Given the description of an element on the screen output the (x, y) to click on. 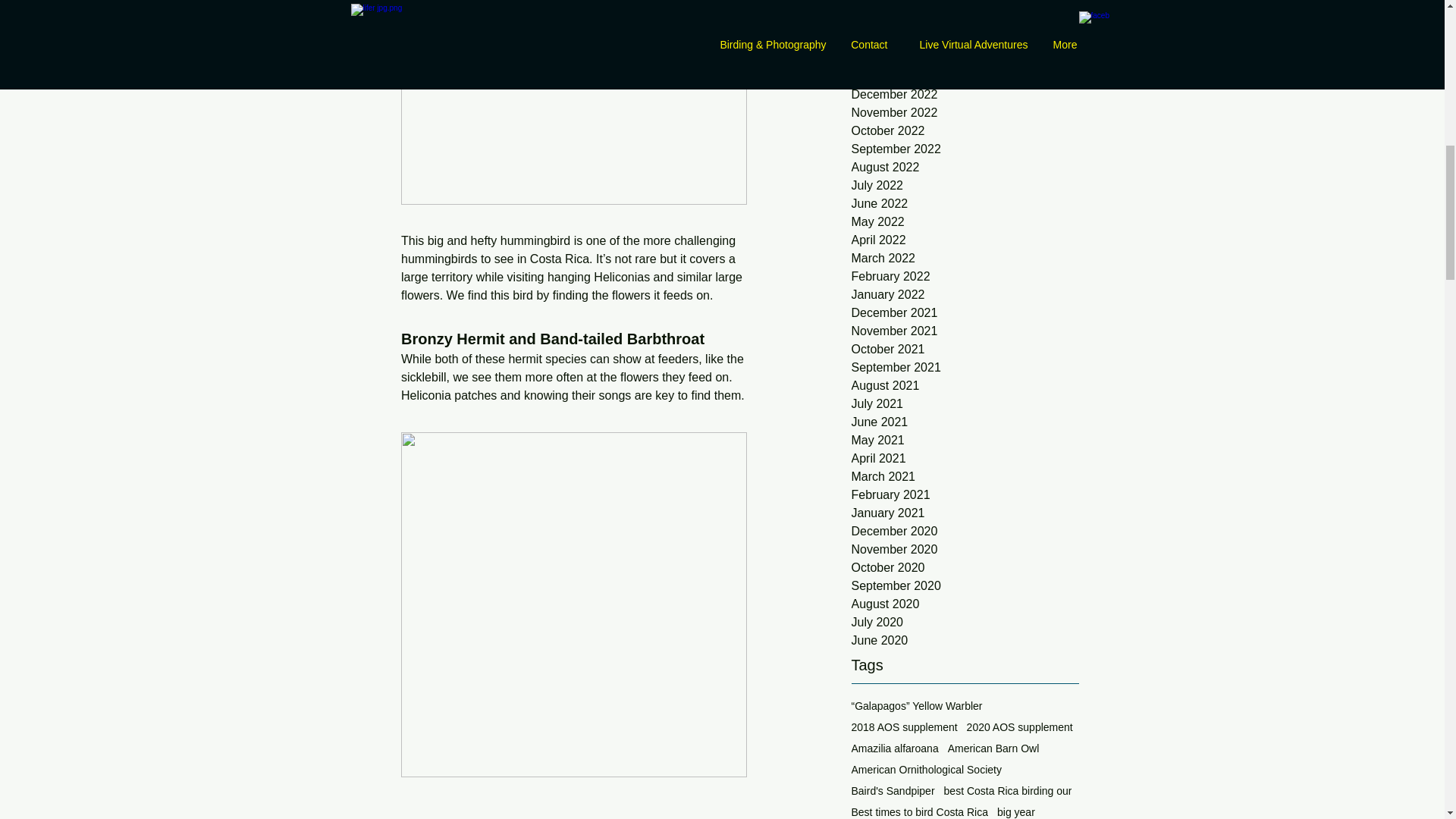
March 2023 (964, 40)
May 2023 (964, 6)
September 2022 (964, 149)
April 2023 (964, 22)
December 2022 (964, 94)
February 2023 (964, 58)
January 2023 (964, 76)
October 2022 (964, 131)
November 2022 (964, 113)
August 2022 (964, 167)
